Given the description of an element on the screen output the (x, y) to click on. 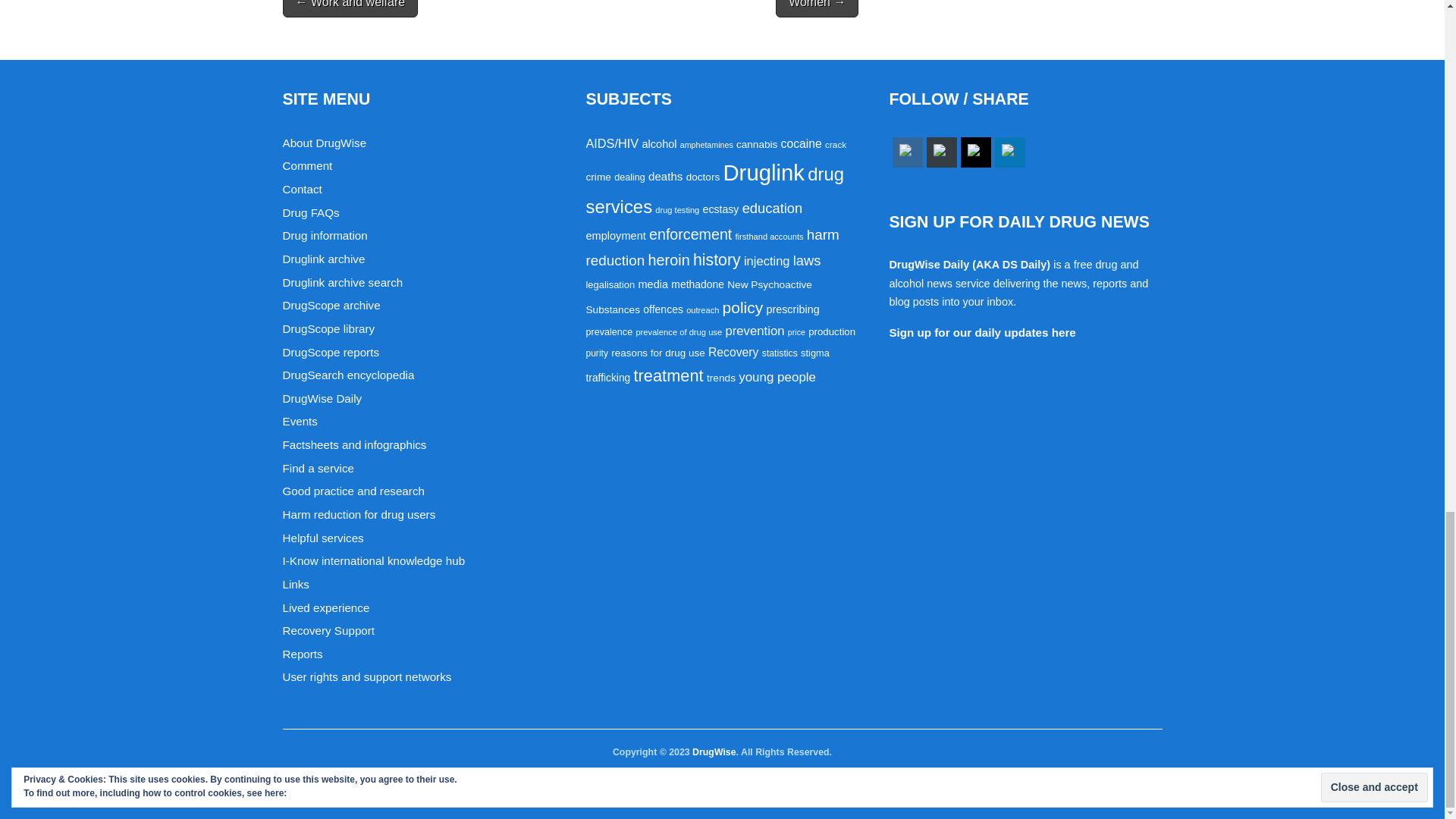
Twitter (976, 152)
Facebook (907, 152)
LinkedIn (1009, 152)
EMAIL (941, 152)
